Given the description of an element on the screen output the (x, y) to click on. 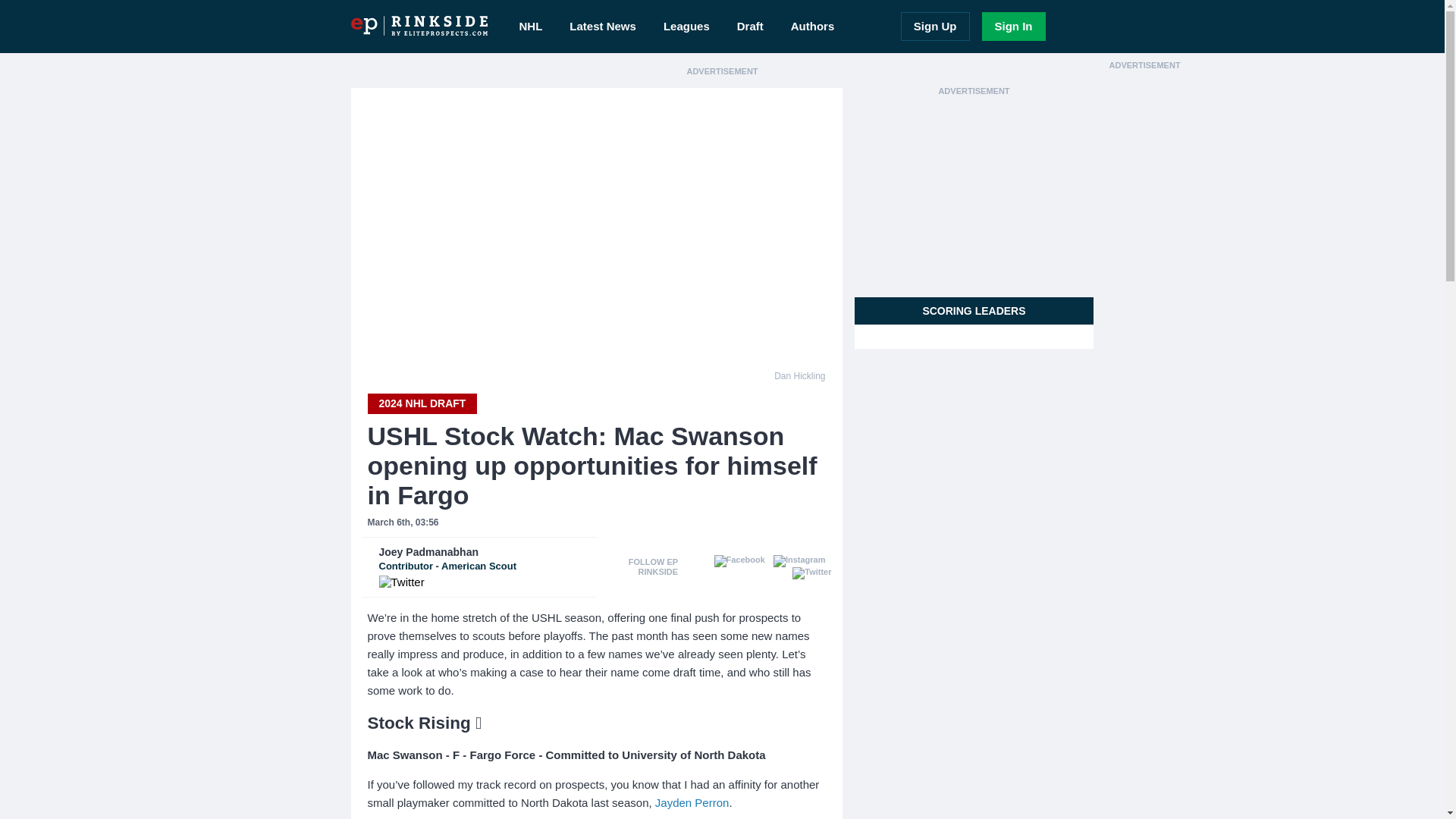
NHL (484, 559)
Jayden Perron (530, 26)
Latest News (692, 802)
Twitter (602, 26)
Mac Swanson (401, 581)
eprinkside.com (404, 754)
Leagues (418, 26)
Draft (686, 26)
Sign Up (750, 26)
